Given the description of an element on the screen output the (x, y) to click on. 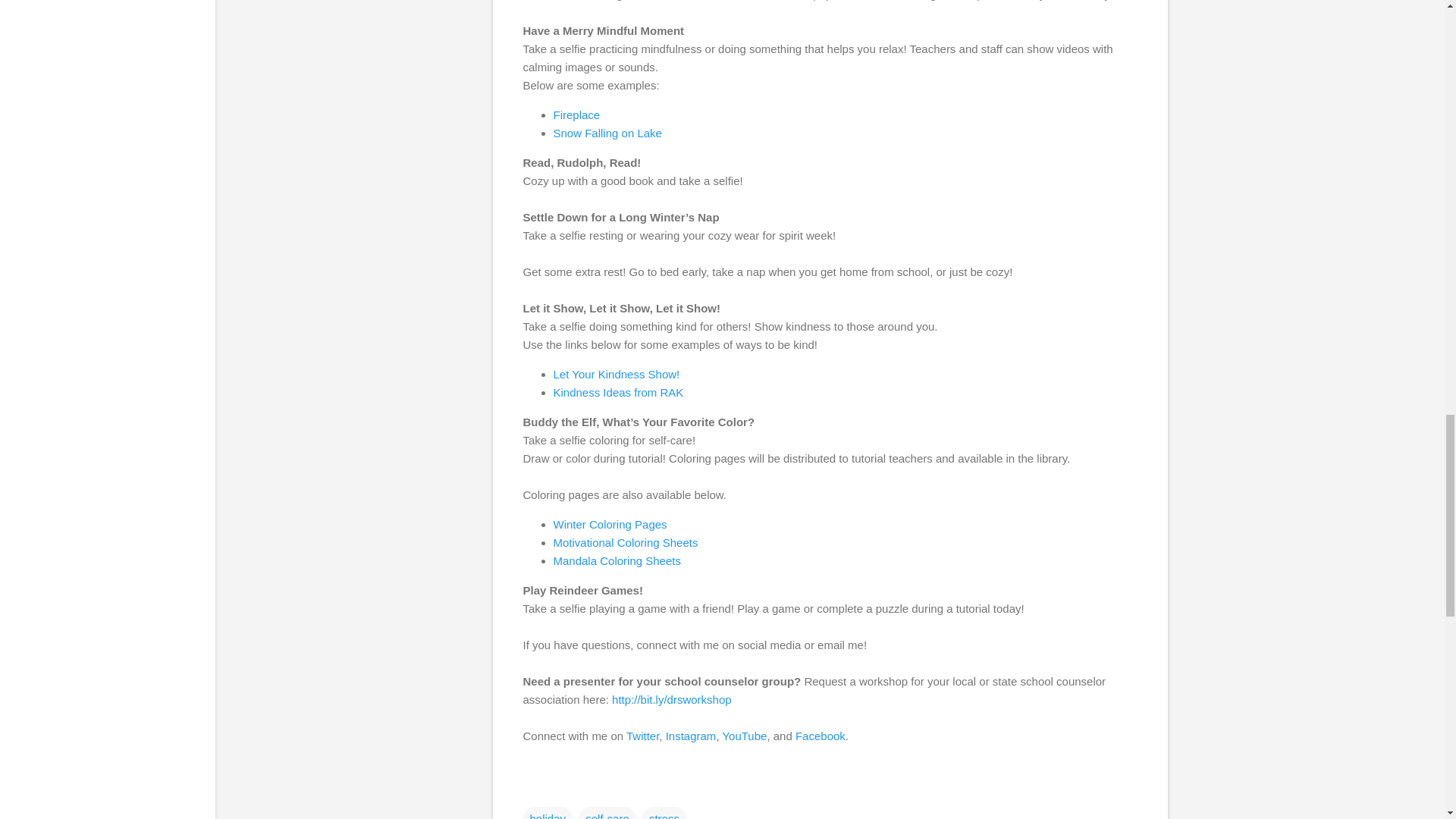
Email Post (531, 788)
Let Your Kindness Show!  (617, 373)
stress (663, 812)
holiday (547, 812)
Instagram (690, 735)
Twitter (642, 735)
Motivational Coloring Sheets  (627, 542)
Fireplace  (578, 114)
Winter Coloring Pages (609, 523)
Facebook (819, 735)
